Given the description of an element on the screen output the (x, y) to click on. 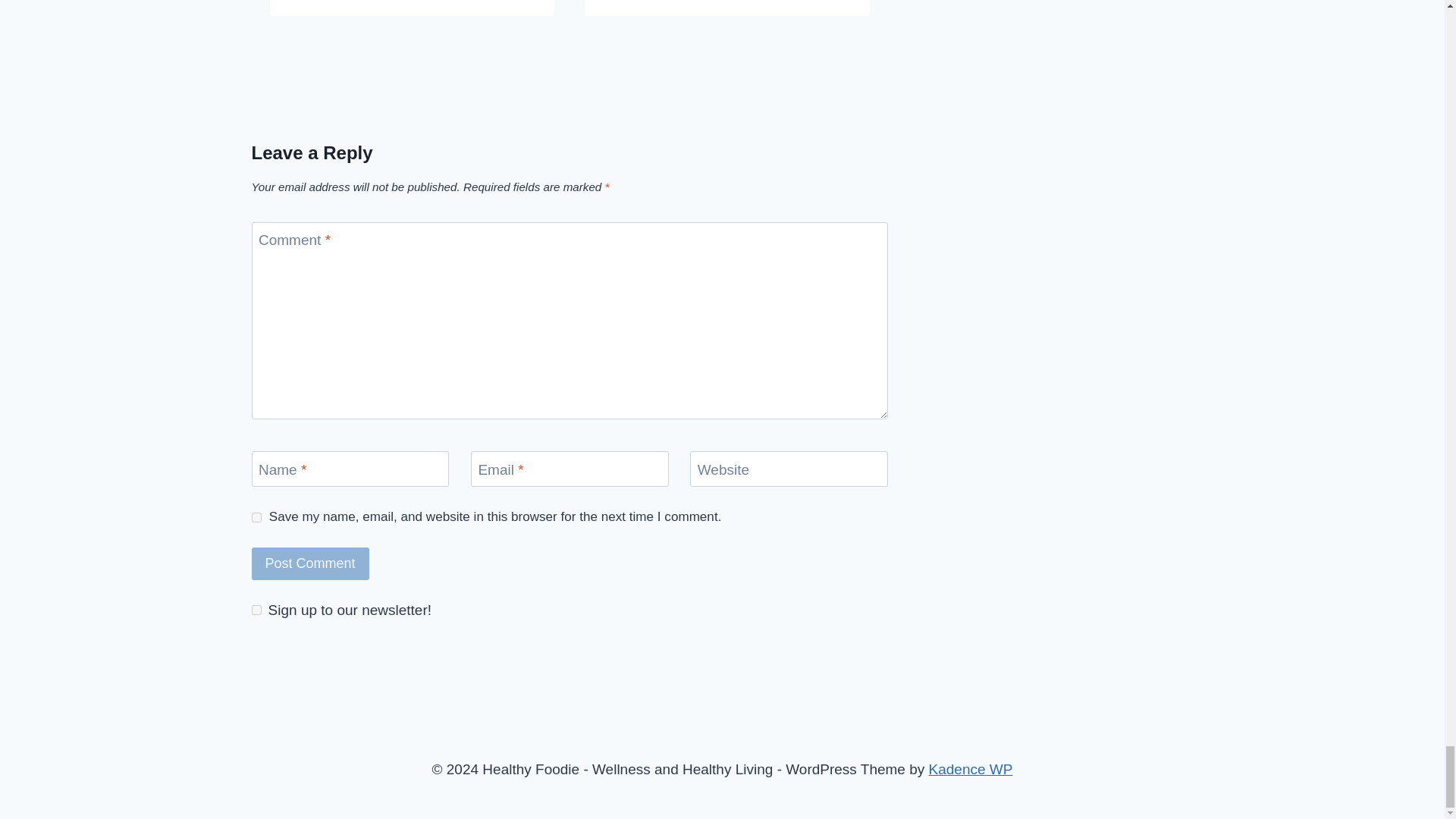
Post Comment (310, 563)
yes (256, 517)
1 (256, 610)
